Given the description of an element on the screen output the (x, y) to click on. 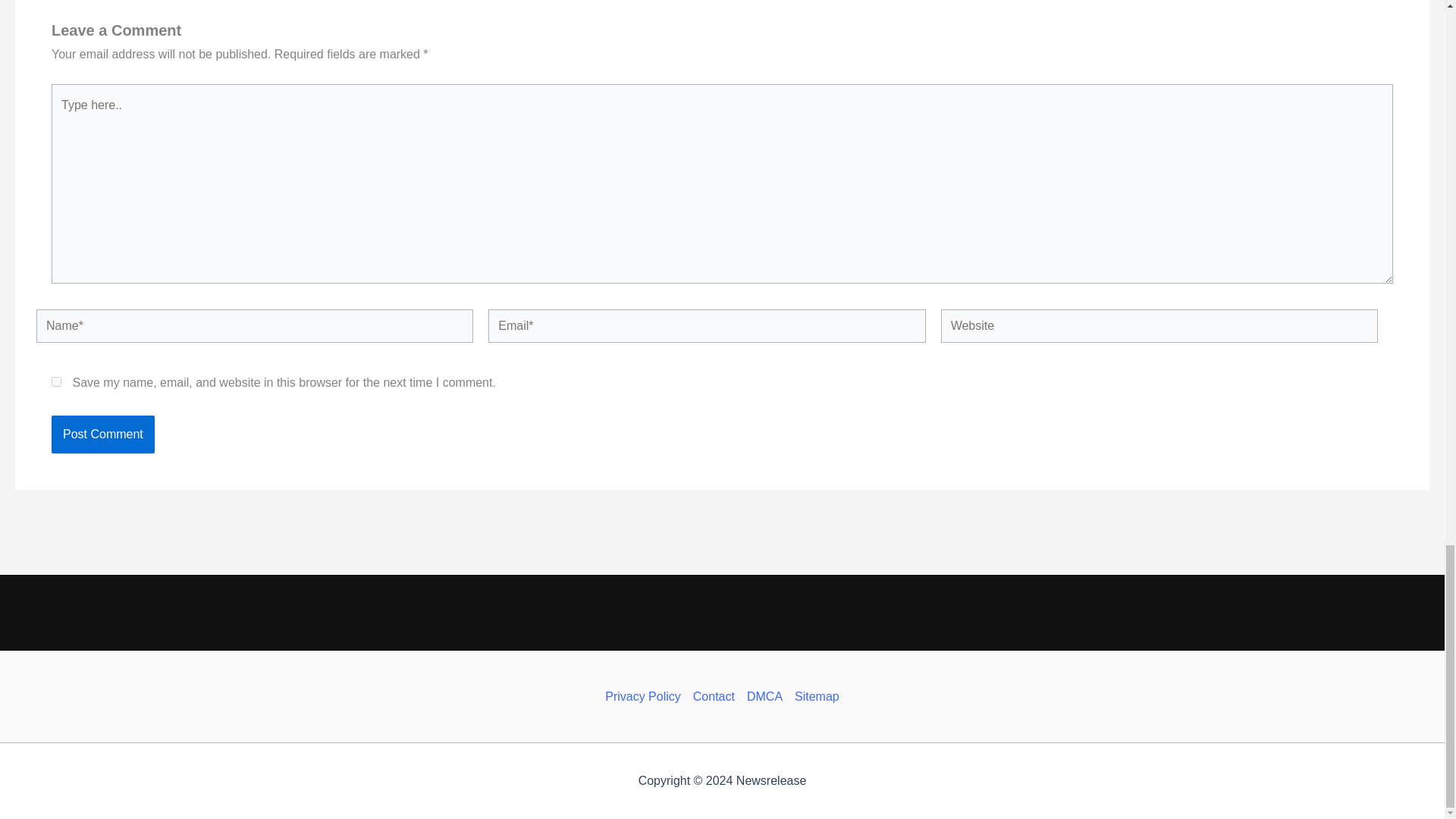
Post Comment (102, 434)
Privacy Policy (646, 696)
DMCA (765, 696)
yes (55, 381)
Sitemap (814, 696)
Contact (714, 696)
Post Comment (102, 434)
